Given the description of an element on the screen output the (x, y) to click on. 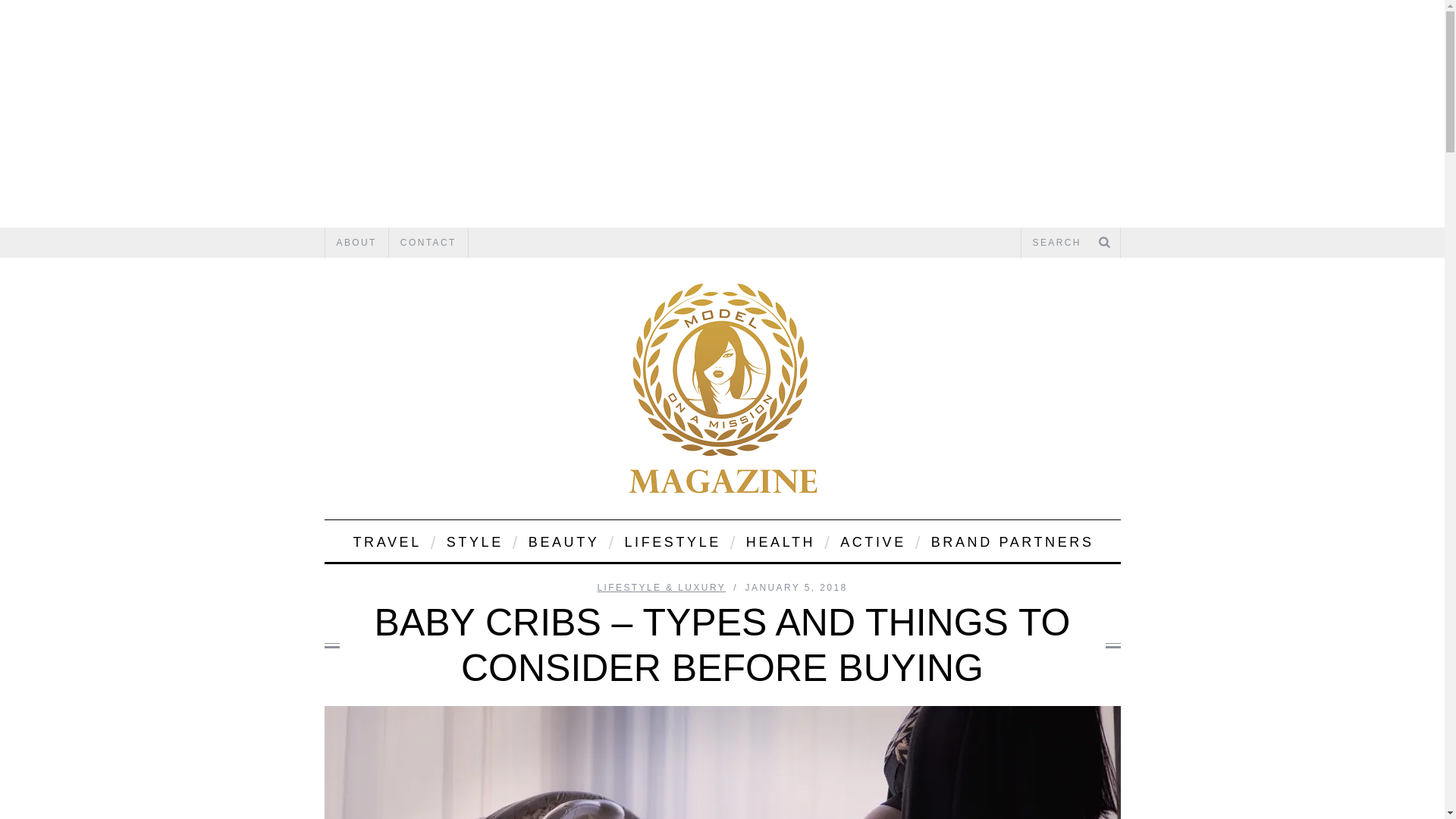
Search (1070, 242)
modelonamission  -  (721, 388)
ABOUT (355, 242)
STYLE (473, 540)
CONTACT (427, 242)
LIFESTYLE (670, 540)
HEALTH (779, 540)
BEAUTY (562, 540)
